Given the description of an element on the screen output the (x, y) to click on. 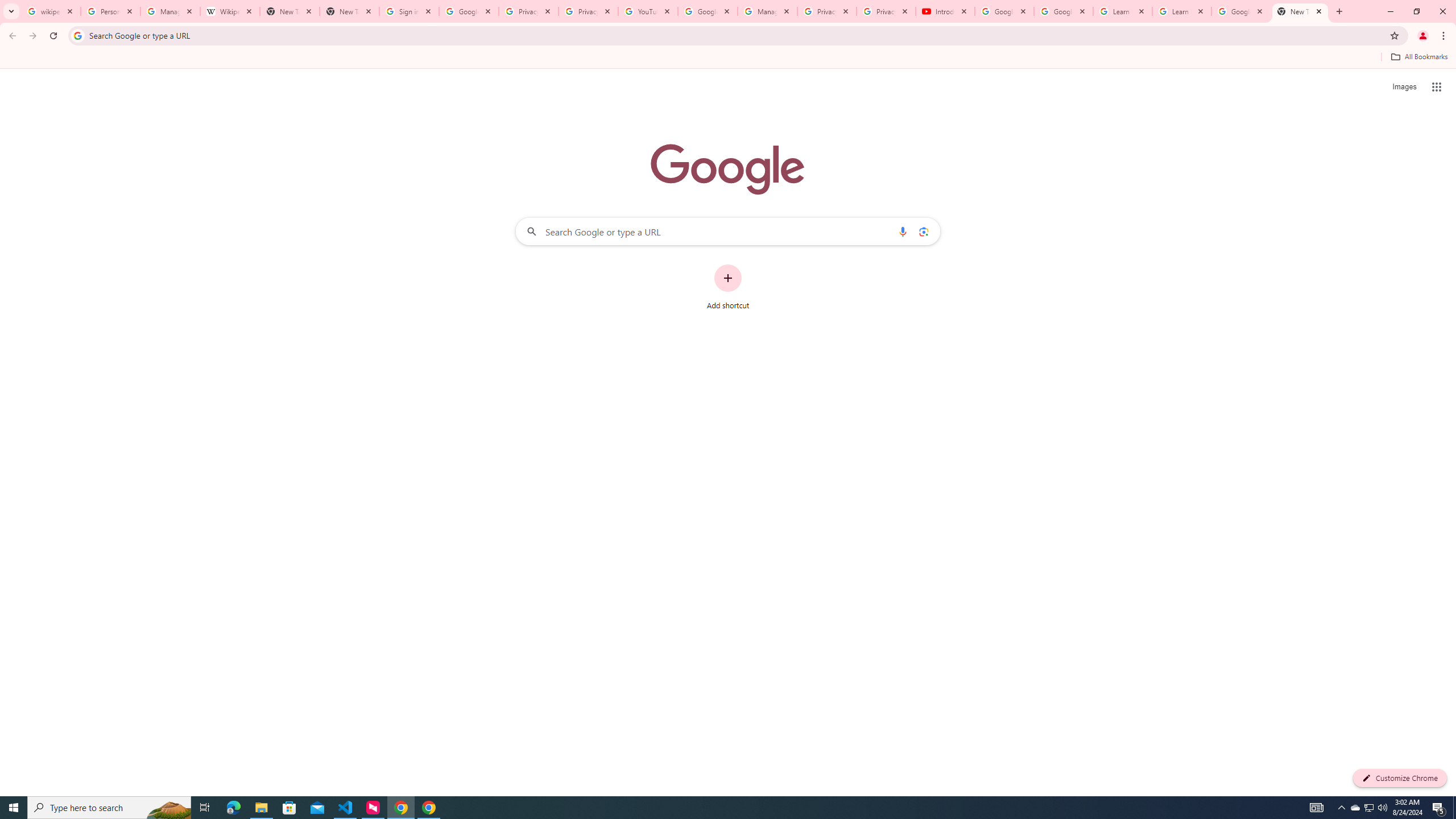
All Bookmarks (1418, 56)
Search by image (922, 230)
Personalization & Google Search results - Google Search Help (110, 11)
Introduction | Google Privacy Policy - YouTube (944, 11)
Search by voice (902, 230)
New Tab (1300, 11)
